Given the description of an element on the screen output the (x, y) to click on. 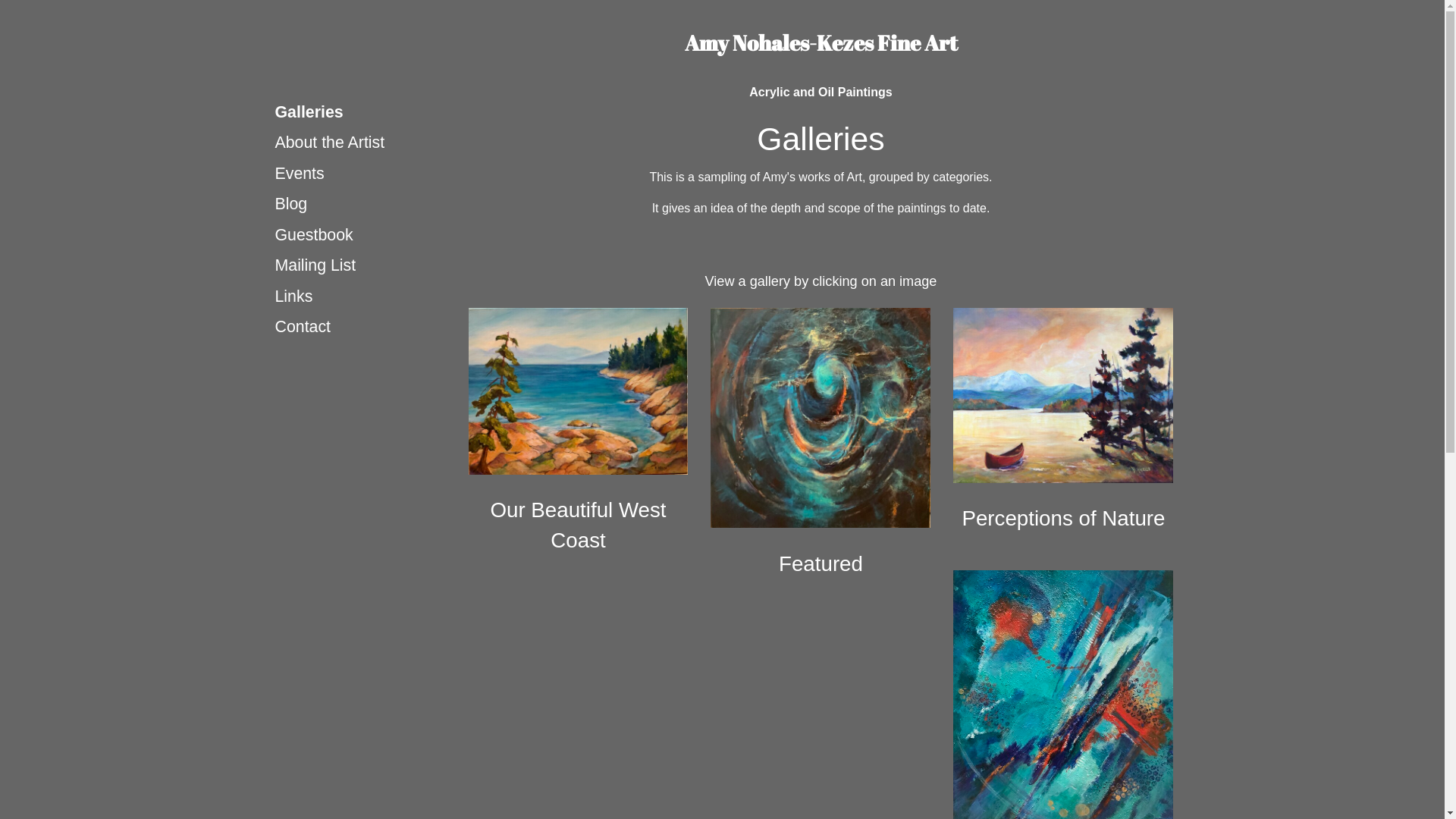
About the Artist Element type: text (364, 142)
Contact Element type: text (364, 326)
Amy Nohales-Kezes Fine Art Element type: text (820, 42)
Links Element type: text (364, 296)
Galleries Element type: text (364, 112)
Blog Element type: text (364, 203)
Acrylic and Oil Paintings Element type: text (820, 91)
Latest Featured Works of Art Element type: hover (820, 417)
Mailing List Element type: text (364, 265)
Events Element type: text (364, 173)
Guestbook Element type: text (364, 234)
